Given the description of an element on the screen output the (x, y) to click on. 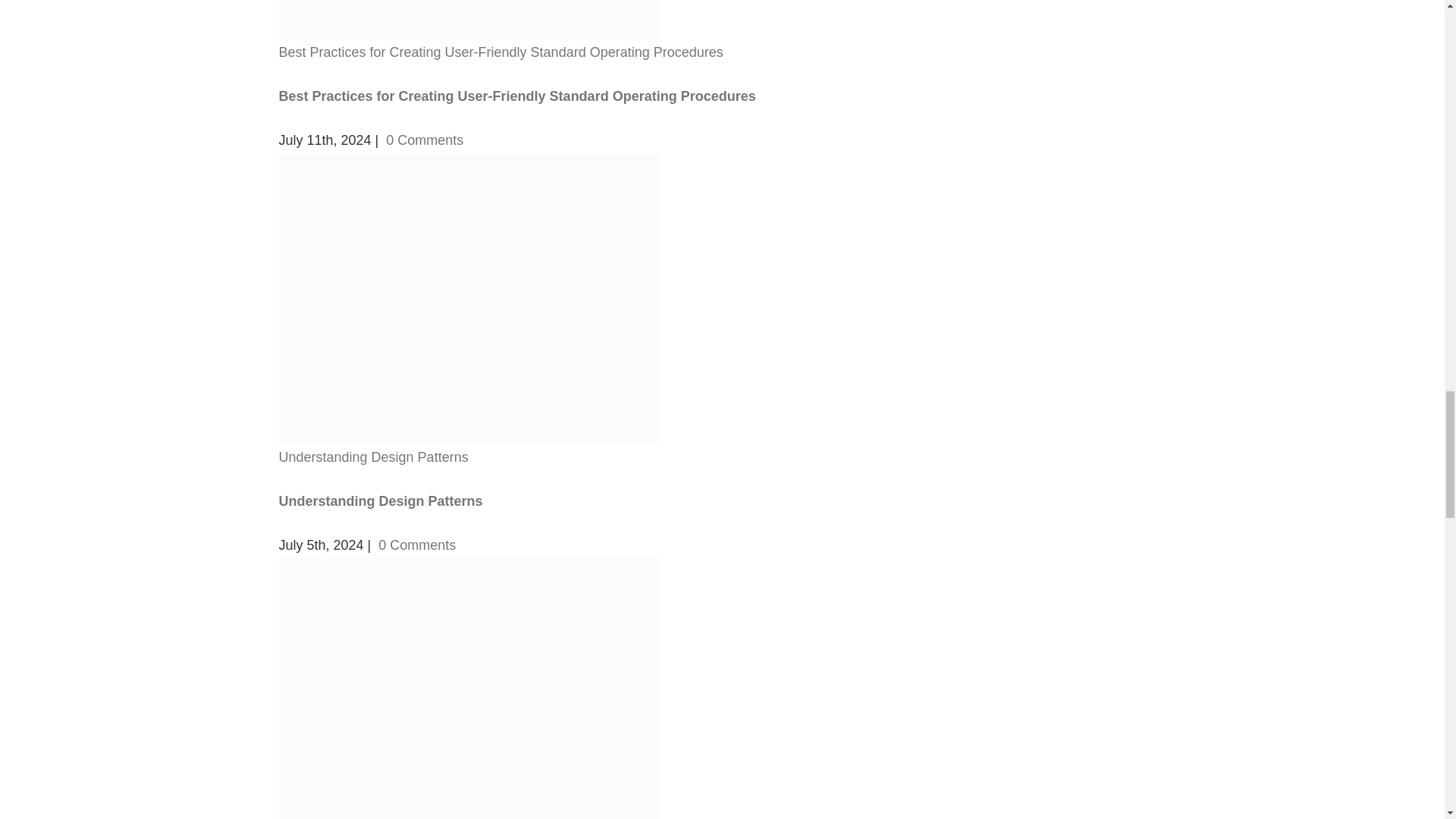
0 Comments (424, 140)
Understanding Design Patterns (381, 500)
Understanding Design Patterns (373, 457)
Understanding Design Patterns (381, 500)
0 Comments (416, 544)
